Given the description of an element on the screen output the (x, y) to click on. 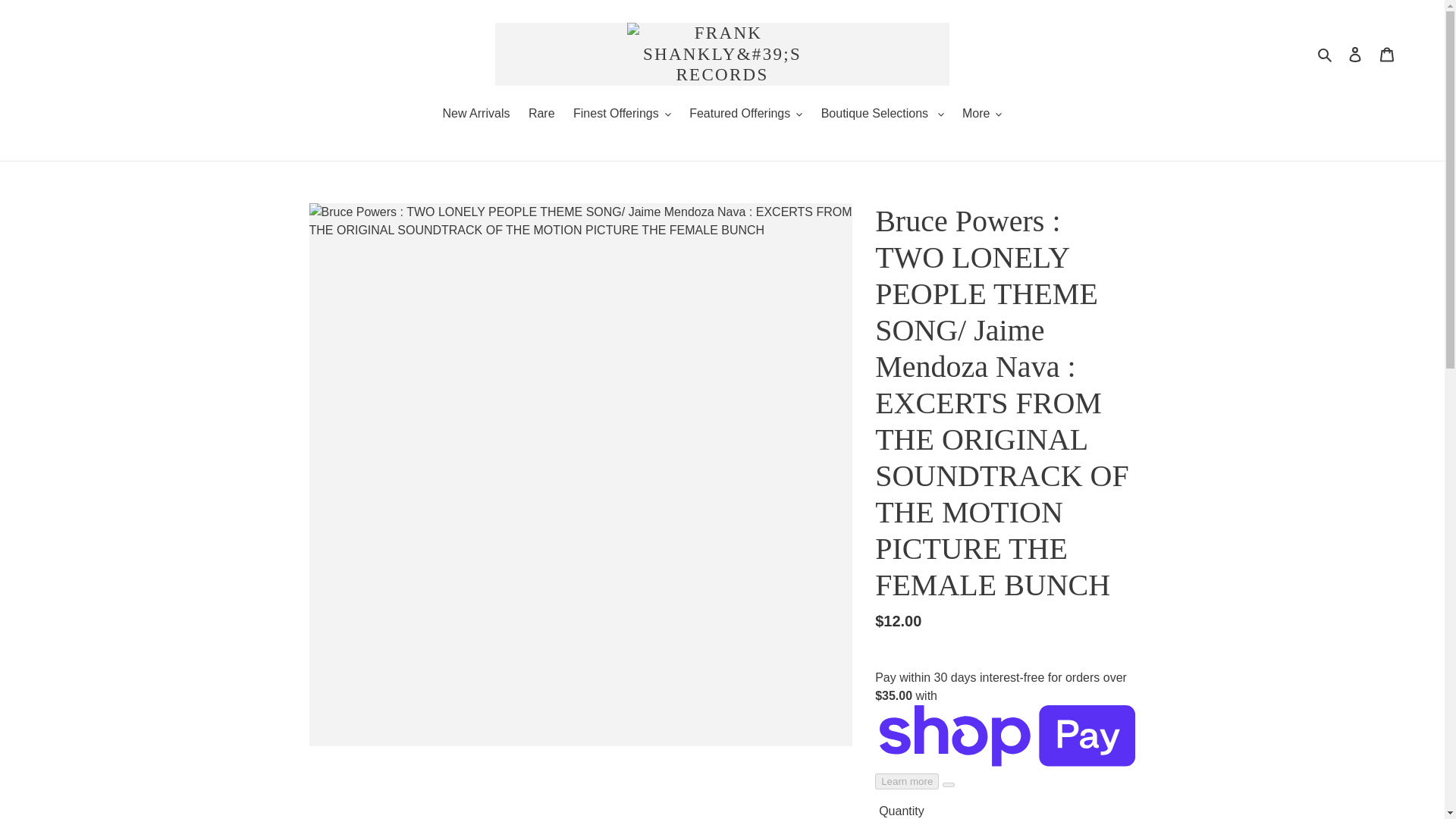
Log in (1355, 53)
Search (1326, 53)
Cart (1387, 53)
